Given the description of an element on the screen output the (x, y) to click on. 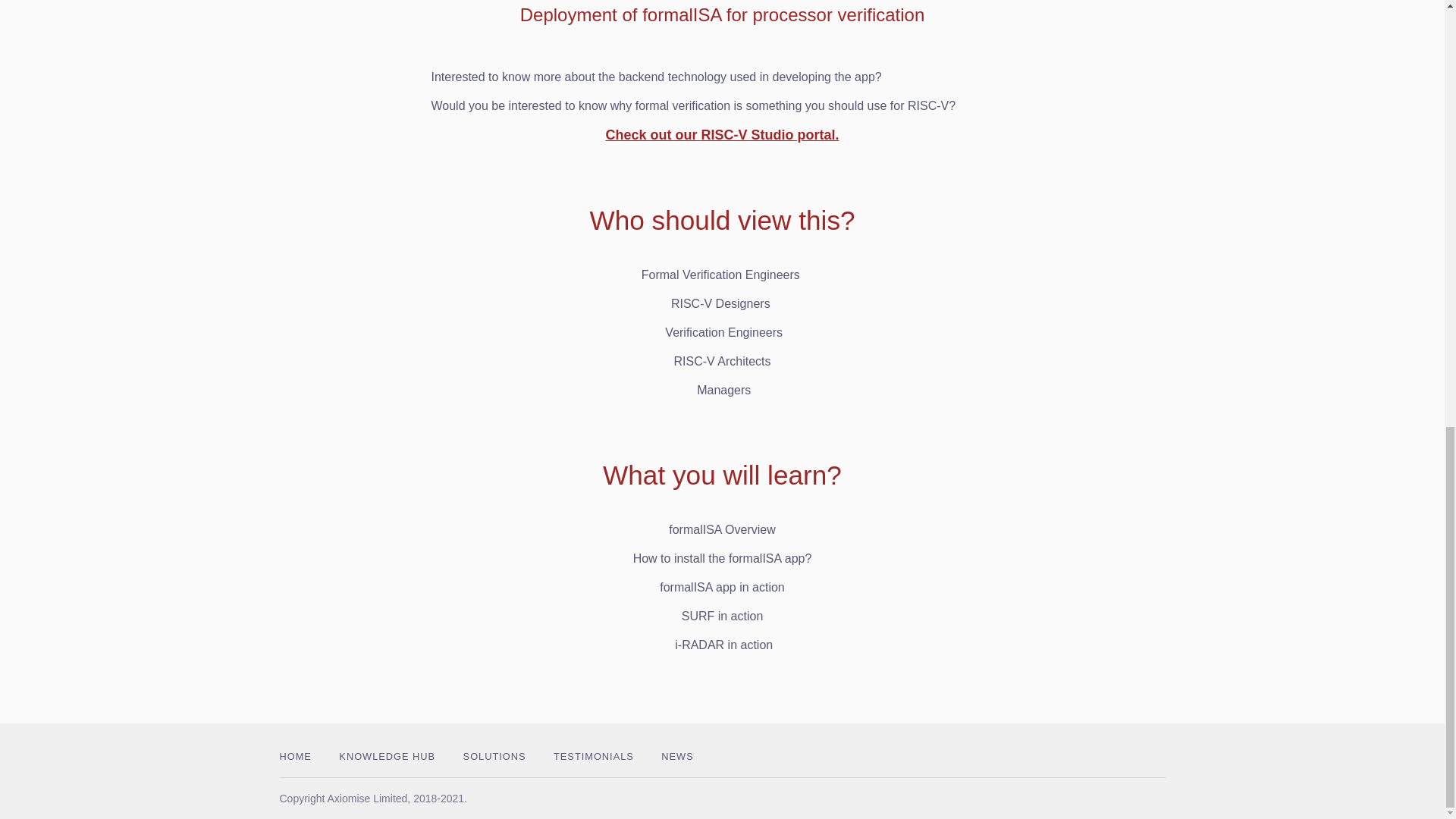
Check out our  (652, 134)
RISC-V Studio portal. (769, 134)
SOLUTIONS (494, 756)
KNOWLEDGE HUB (387, 756)
HOME (295, 756)
TESTIMONIALS (593, 756)
NEWS (677, 756)
